Given the description of an element on the screen output the (x, y) to click on. 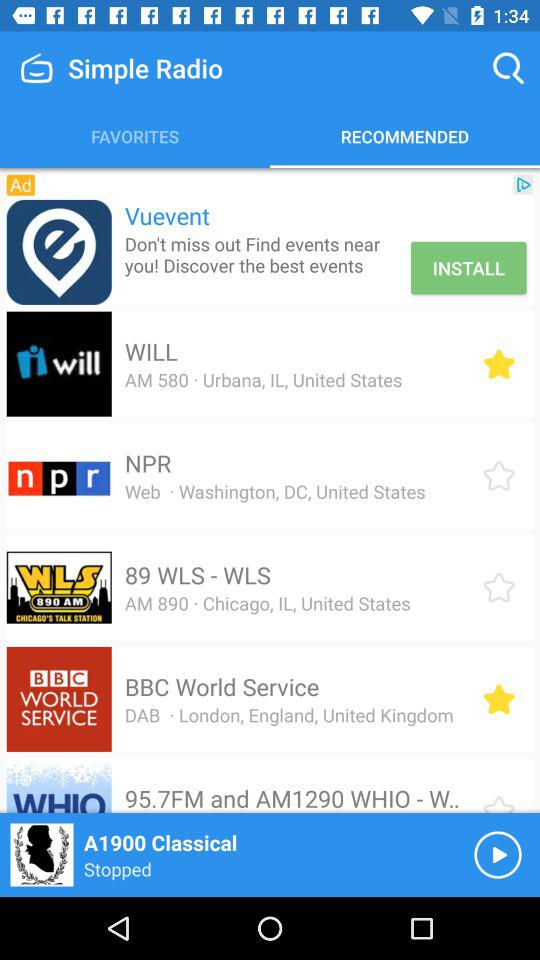
press the 89 wls - wls (197, 575)
